Given the description of an element on the screen output the (x, y) to click on. 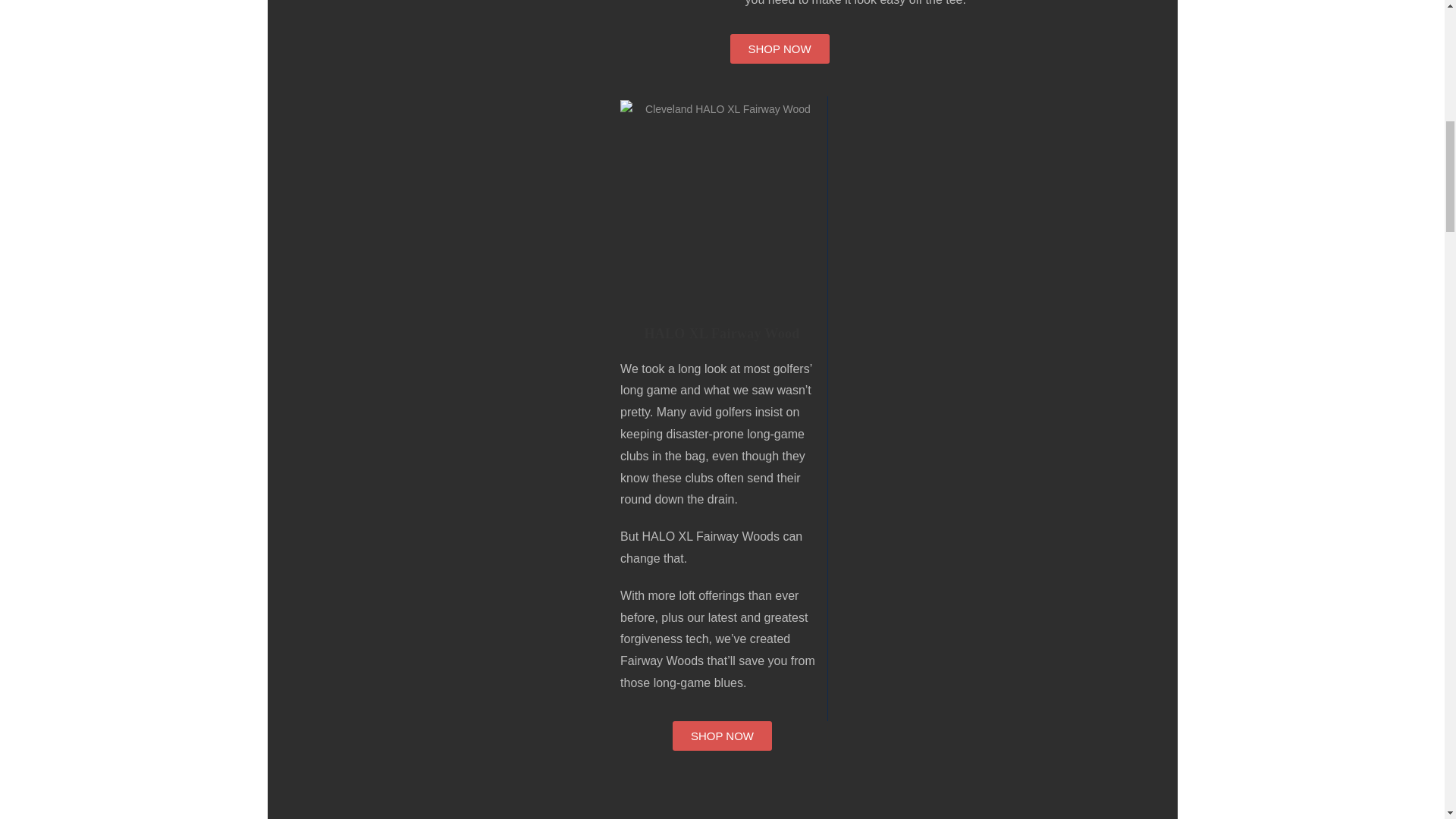
SHOP NOW (721, 736)
SHOP NOW (778, 48)
